Given the description of an element on the screen output the (x, y) to click on. 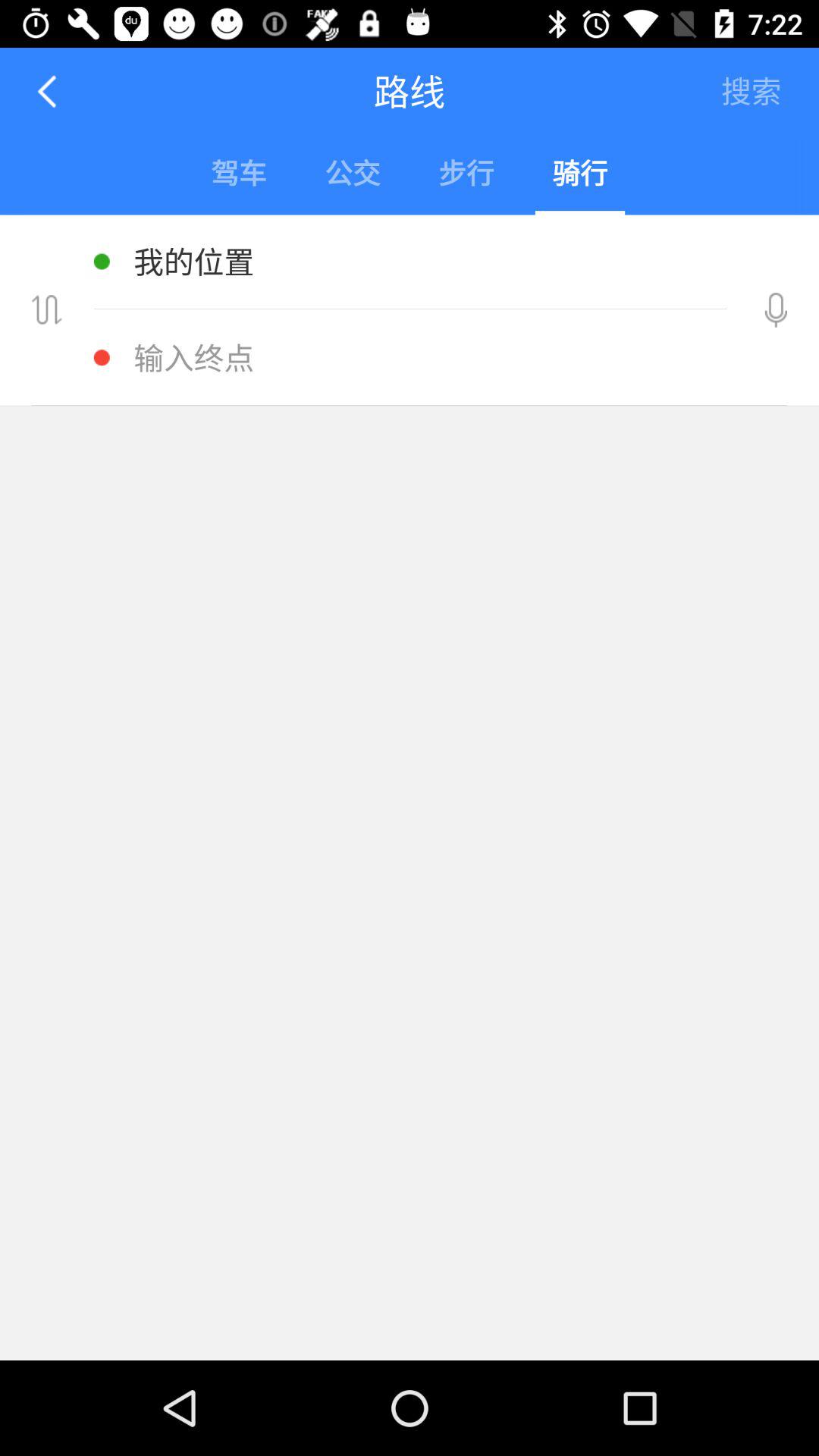
2nd tab under the header text (352, 175)
click on third symbol in the second row (466, 175)
click the text below the blue box (413, 261)
select the text right to left arrow (409, 91)
select the text along with red dot icon on left side (413, 357)
